Given the description of an element on the screen output the (x, y) to click on. 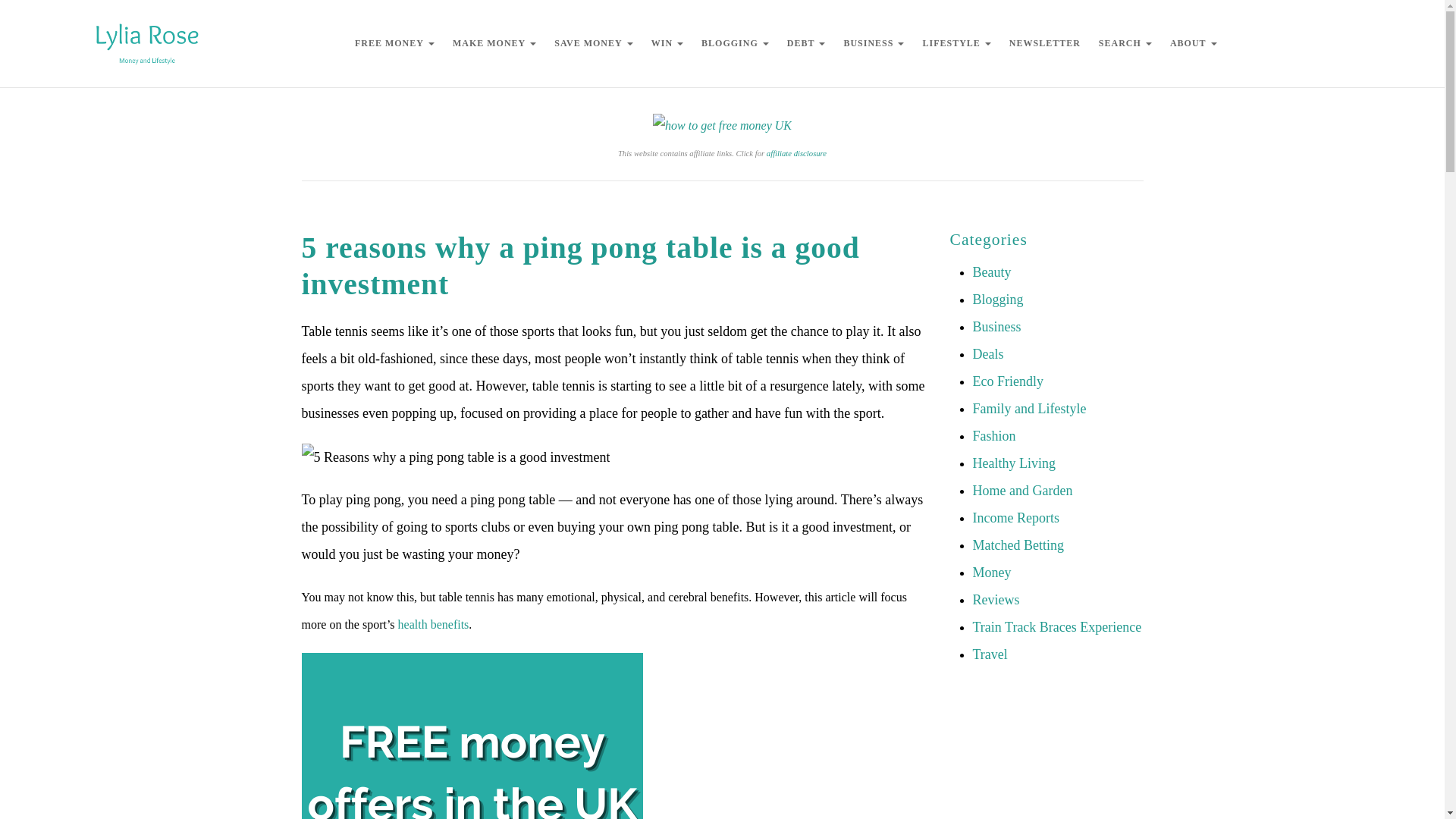
MAKE MONEY (494, 43)
5 Reasons why a ping pong table is a good investment (455, 456)
SAVE MONEY (593, 43)
how to get free money UK (722, 125)
FREE MONEY (395, 43)
